Given the description of an element on the screen output the (x, y) to click on. 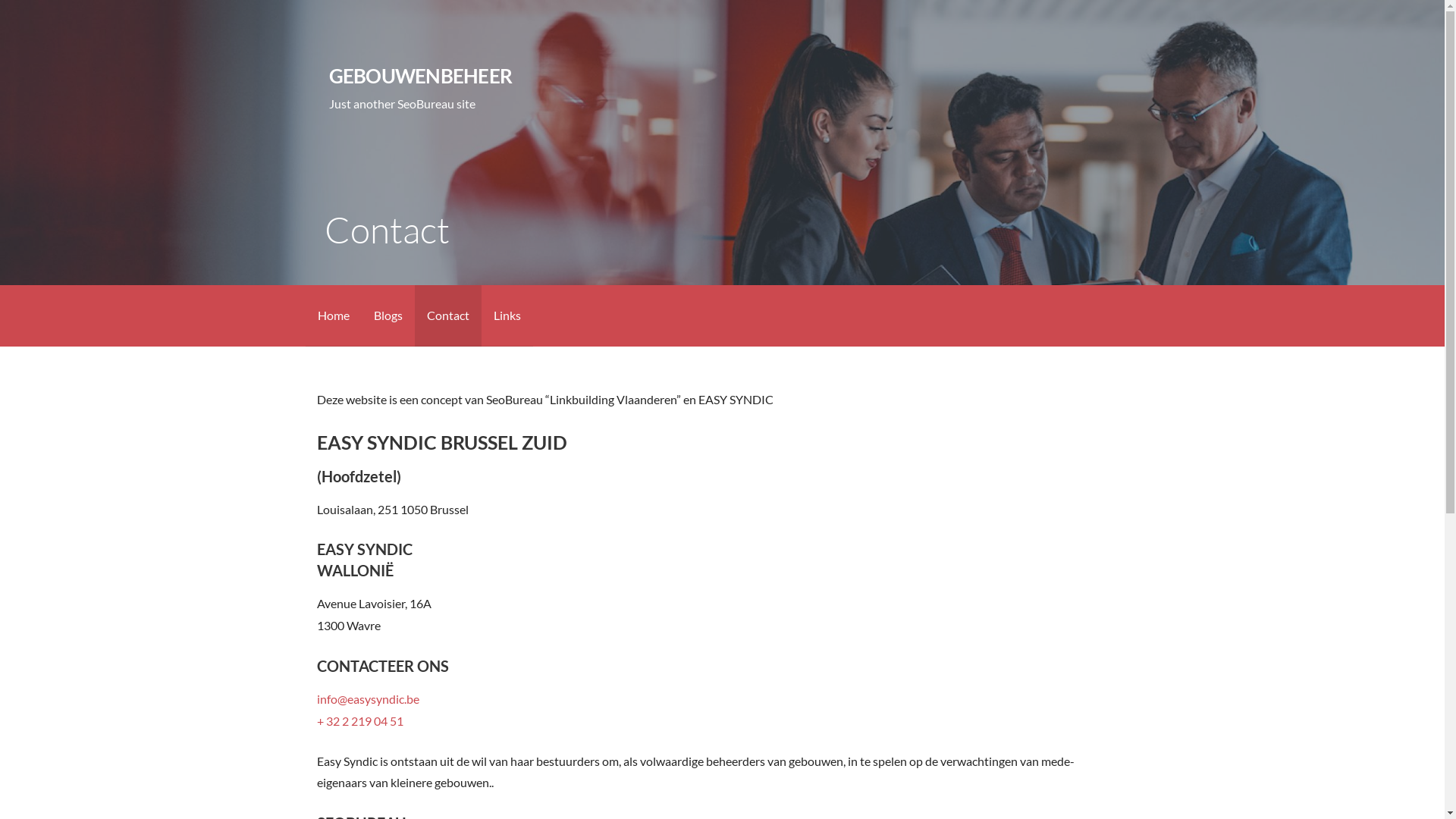
GEBOUWENBEHEER Element type: text (420, 75)
info@easysyndic.be Element type: text (367, 698)
Home Element type: text (332, 315)
+ 32 2 219 04 51 Element type: text (359, 720)
Blogs Element type: text (387, 315)
Links Element type: text (506, 315)
Contact Element type: text (447, 315)
